Given the description of an element on the screen output the (x, y) to click on. 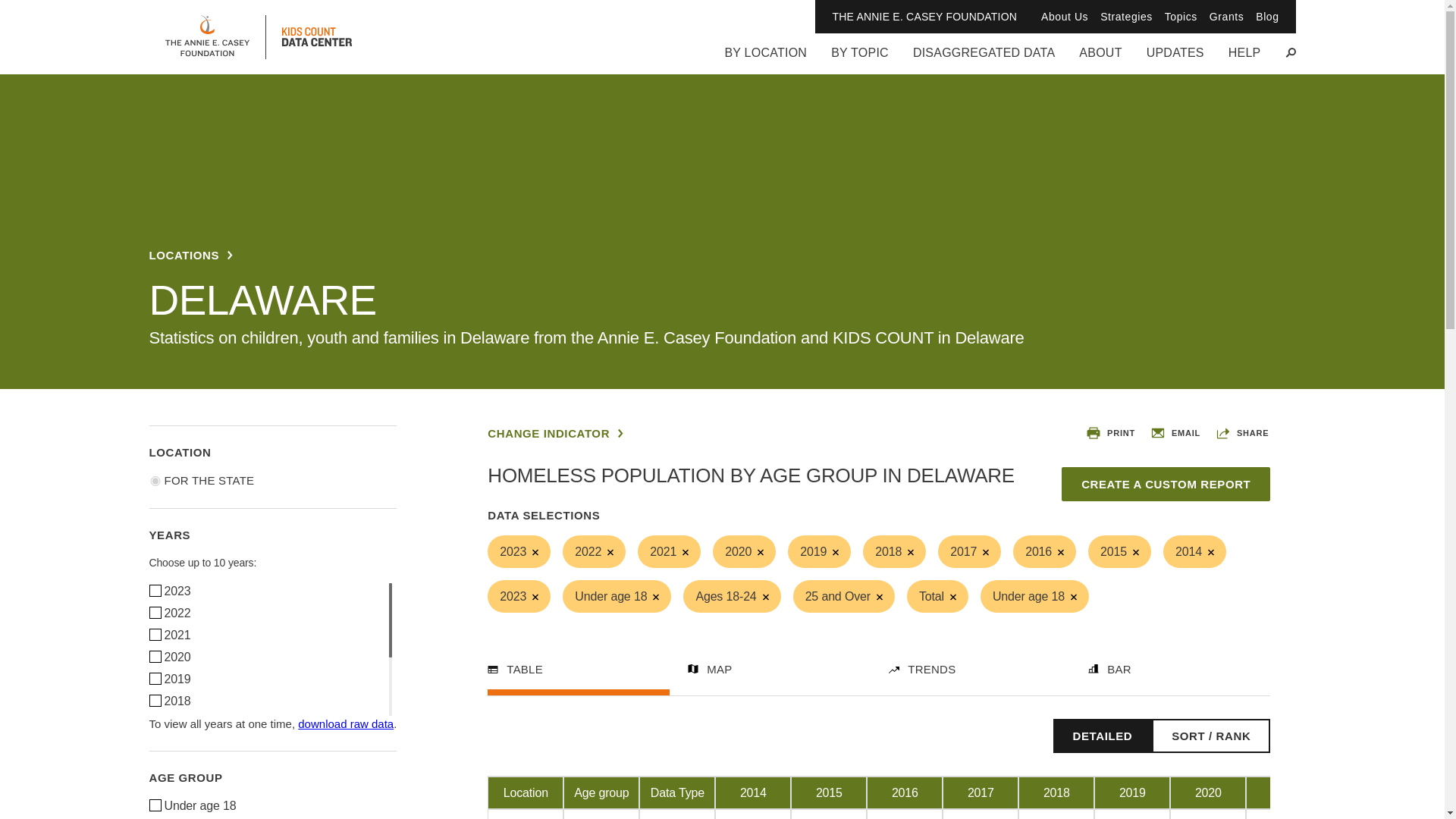
download raw data (345, 723)
LOCATIONS (190, 254)
PRINT (1110, 432)
213 (154, 805)
Topics (1180, 16)
HELP (1244, 59)
About Us (1064, 16)
DISAGGREGATED DATA (983, 59)
574 (154, 656)
UPDATES (1175, 59)
BY LOCATION (764, 59)
1095 (154, 612)
2545 (154, 589)
2048 (154, 633)
2 (154, 480)
